Given the description of an element on the screen output the (x, y) to click on. 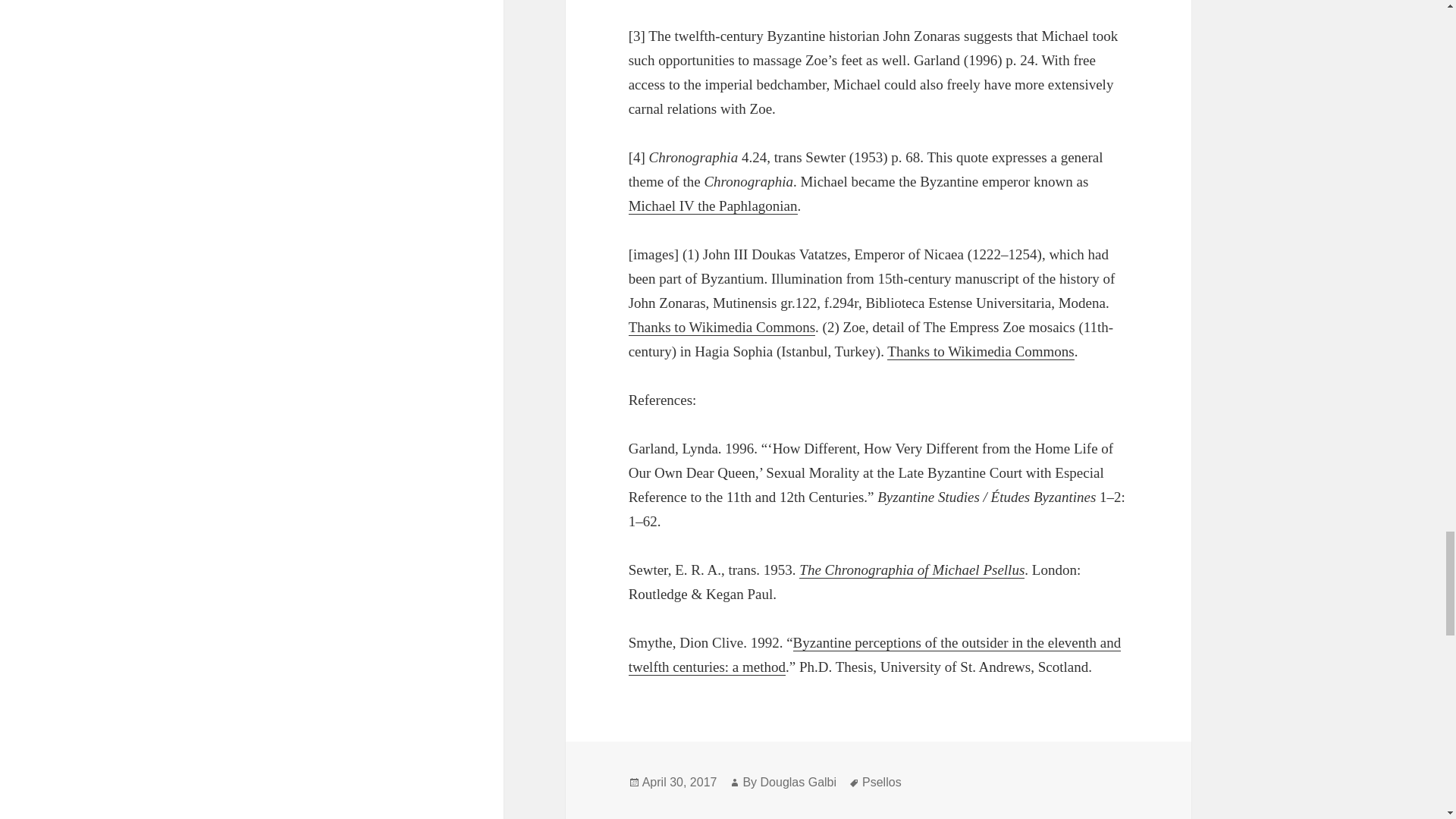
Thanks to Wikimedia Commons (980, 351)
Psellos (881, 782)
April 30, 2017 (679, 782)
Thanks to Wikimedia Commons (721, 327)
Michael IV the Paphlagonian (712, 206)
The Chronographia of Michael Psellus (912, 569)
Douglas Galbi (798, 782)
